Given the description of an element on the screen output the (x, y) to click on. 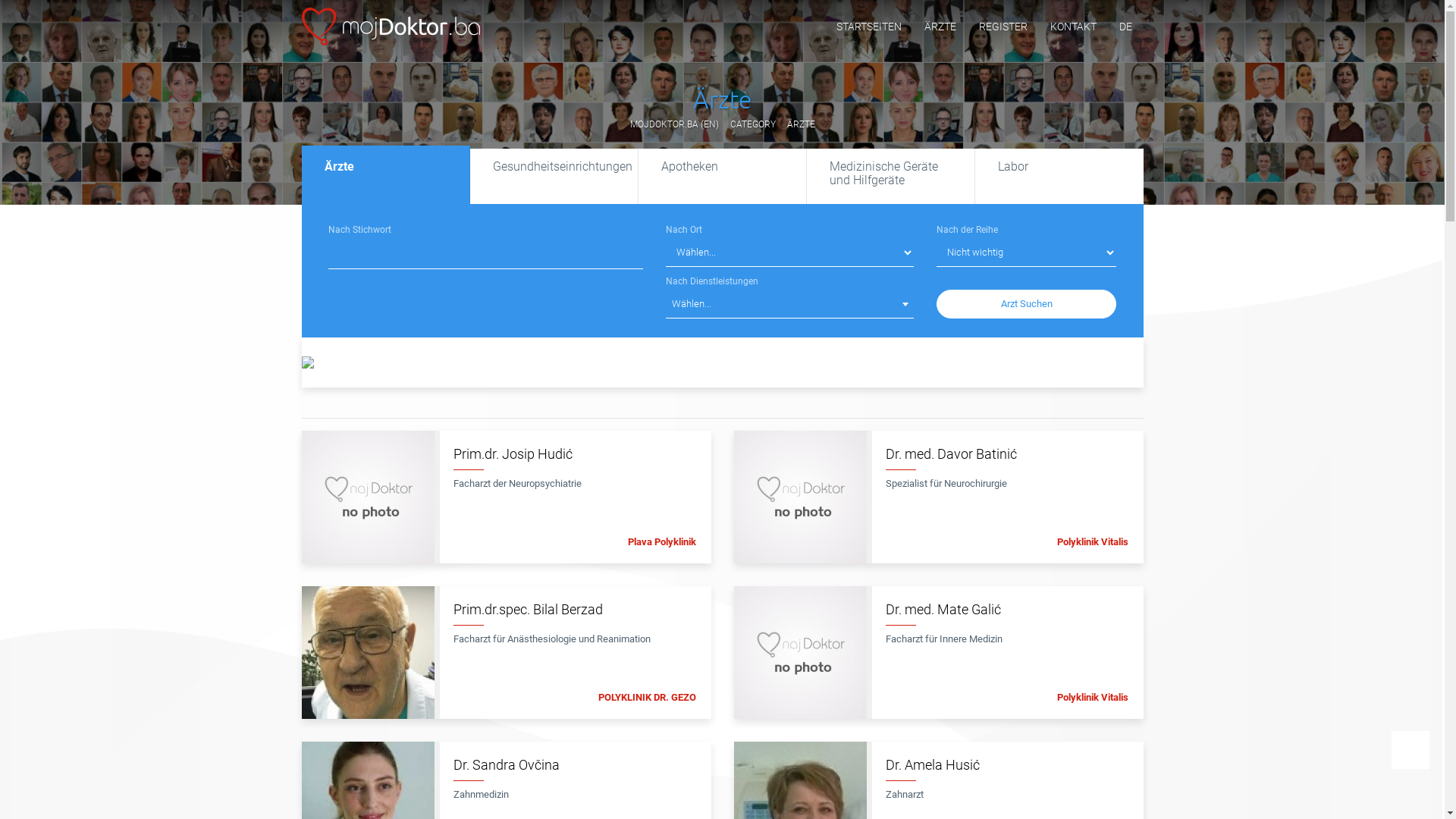
REGISTER Element type: text (1002, 26)
CATEGORY Element type: text (752, 124)
Arzt Suchen Element type: text (1026, 303)
Plava Polyklinik Element type: text (661, 541)
Prim.dr.spec. Bilal Berzad Element type: text (574, 613)
Polyklinik Vitalis Element type: text (1092, 696)
STARTSEITEN Element type: text (869, 26)
Apotheken Element type: text (722, 175)
KONTAKT Element type: text (1072, 26)
DE Element type: text (1124, 26)
Labor Element type: text (1059, 175)
Gesundheitseinrichtungen Element type: text (554, 175)
Polyklinik Vitalis Element type: text (1092, 541)
POLYKLINIK DR. GEZO Element type: text (646, 696)
MOJDOKTOR.BA (EN) Element type: text (673, 124)
